Given the description of an element on the screen output the (x, y) to click on. 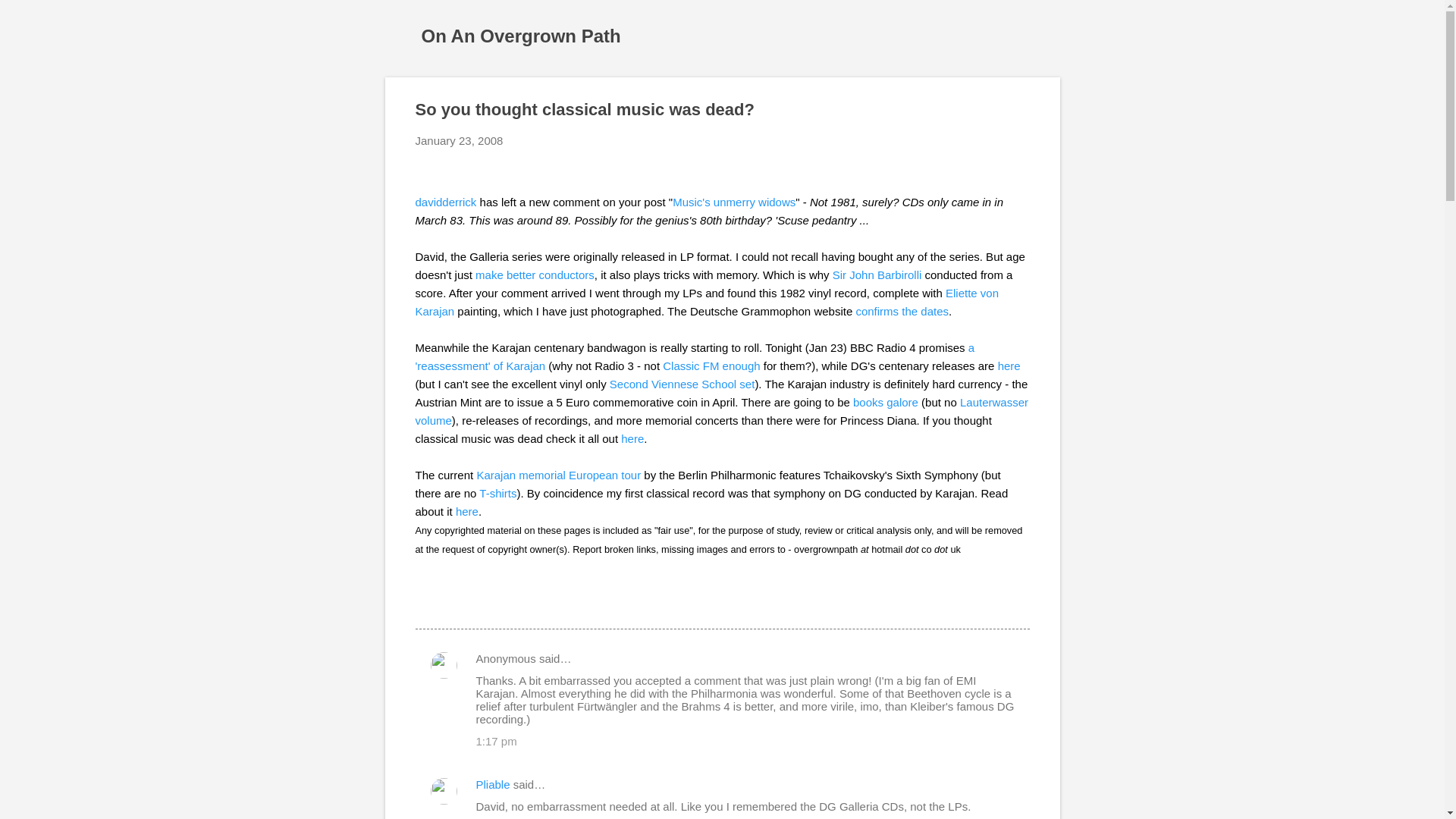
Second Viennese School set (682, 383)
here (1008, 365)
Search (29, 18)
here (632, 438)
a 'reassessment' of Karajan (694, 356)
here (467, 511)
T-shirts (497, 492)
Eliette von Karajan (706, 301)
make better conductors (535, 274)
January 23, 2008 (458, 140)
Pliable (493, 784)
confirms the dates (902, 310)
1:17 pm (496, 740)
davidderrick (445, 201)
comment permalink (496, 740)
